Given the description of an element on the screen output the (x, y) to click on. 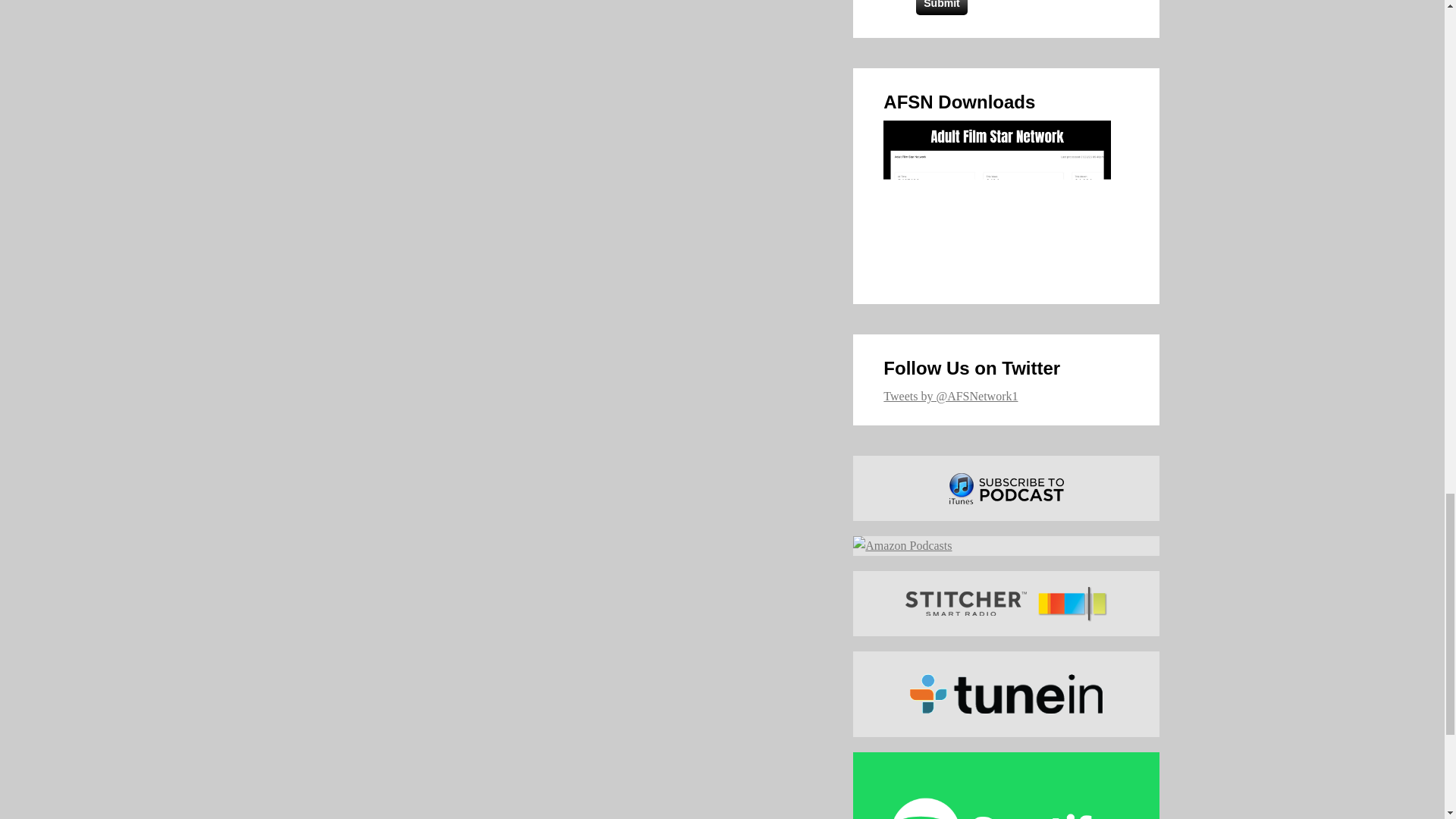
itunes (1005, 487)
Spotify  (1005, 785)
stitcher (1005, 603)
Submit (940, 7)
Amazon Podcasts (1005, 546)
tunein (1005, 694)
Submit (940, 7)
